Given the description of an element on the screen output the (x, y) to click on. 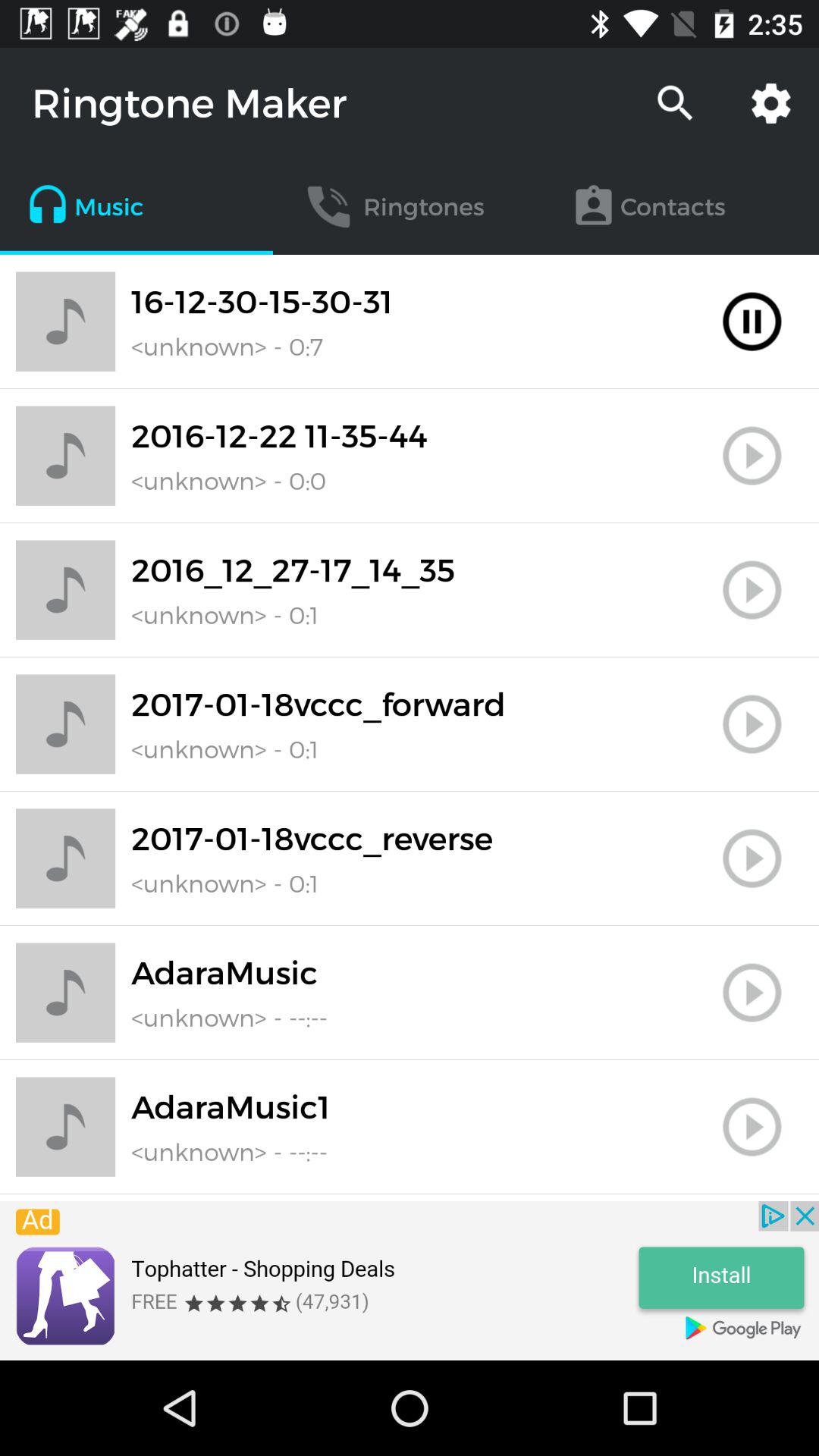
go to play (752, 455)
